Given the description of an element on the screen output the (x, y) to click on. 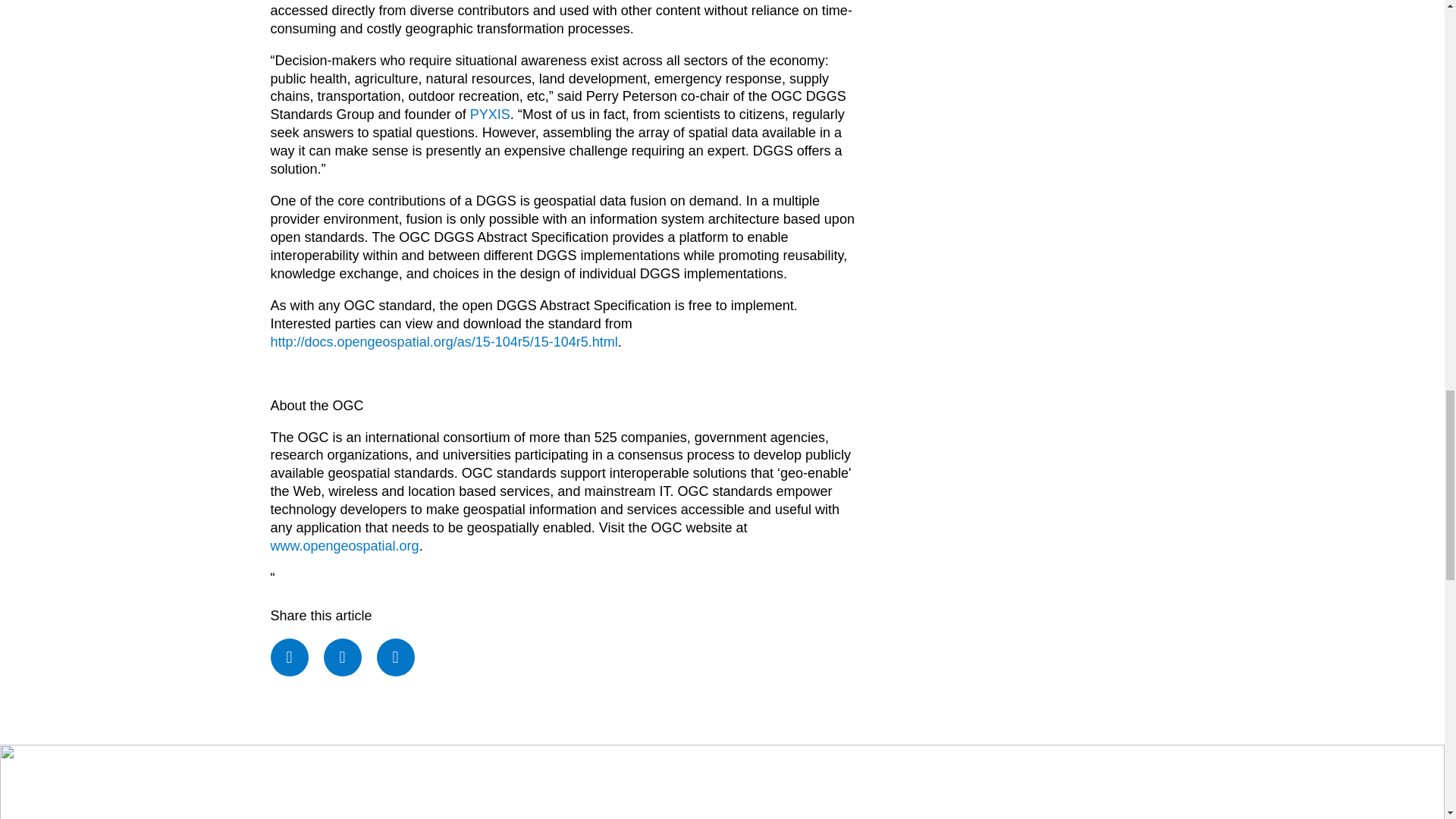
LinkedIn (395, 657)
Facebook (288, 657)
Twitter (342, 657)
